Given the description of an element on the screen output the (x, y) to click on. 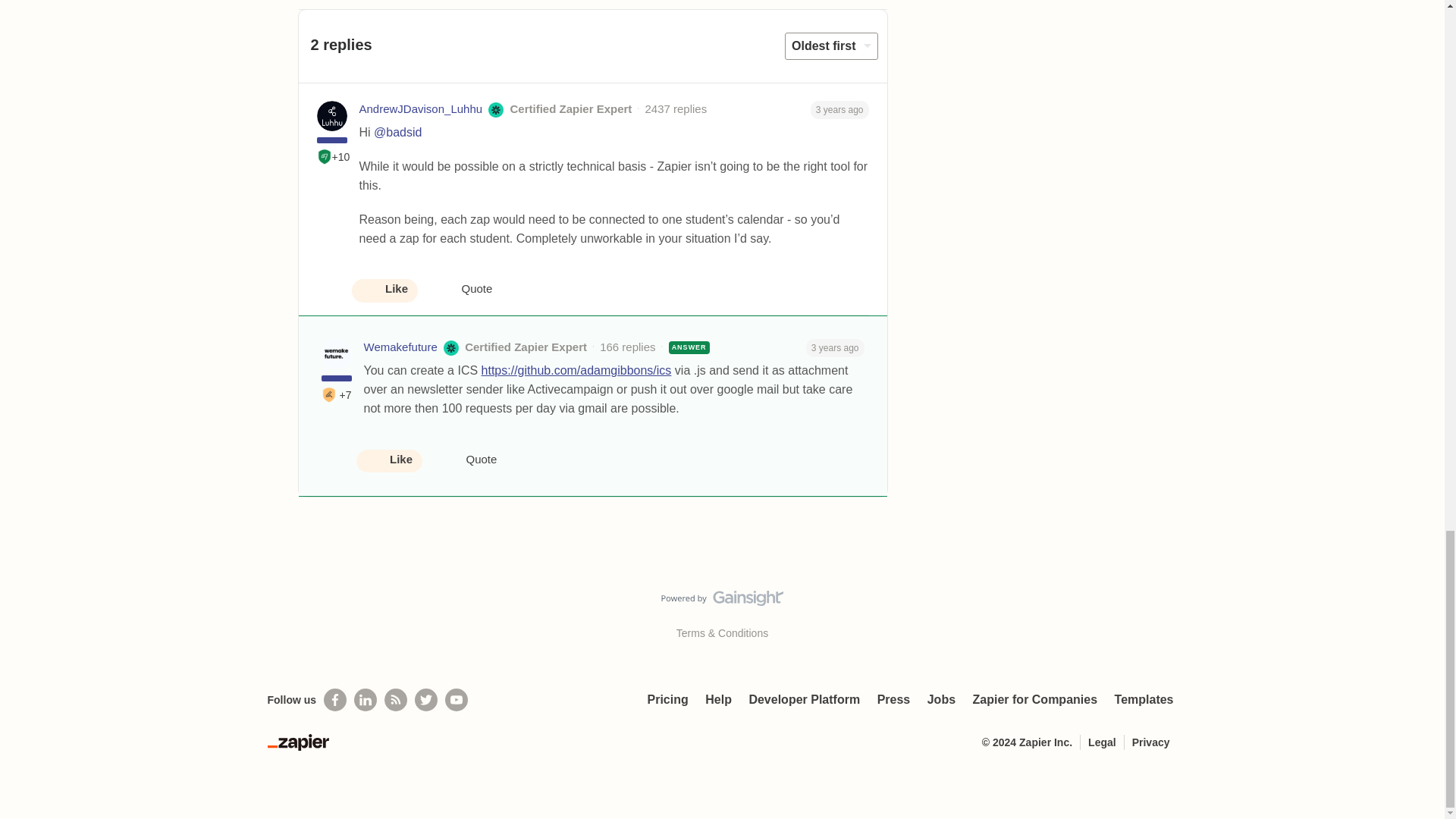
Wemakefuture (401, 347)
Follow us on LinkedIn (365, 699)
Follow us on Facebook (334, 699)
Subscribe to our blog (395, 699)
First Best Answer (328, 394)
Visit Gainsight.com (722, 601)
See helpful Zapier videos on Youtube (456, 699)
Helpful (324, 156)
